Given the description of an element on the screen output the (x, y) to click on. 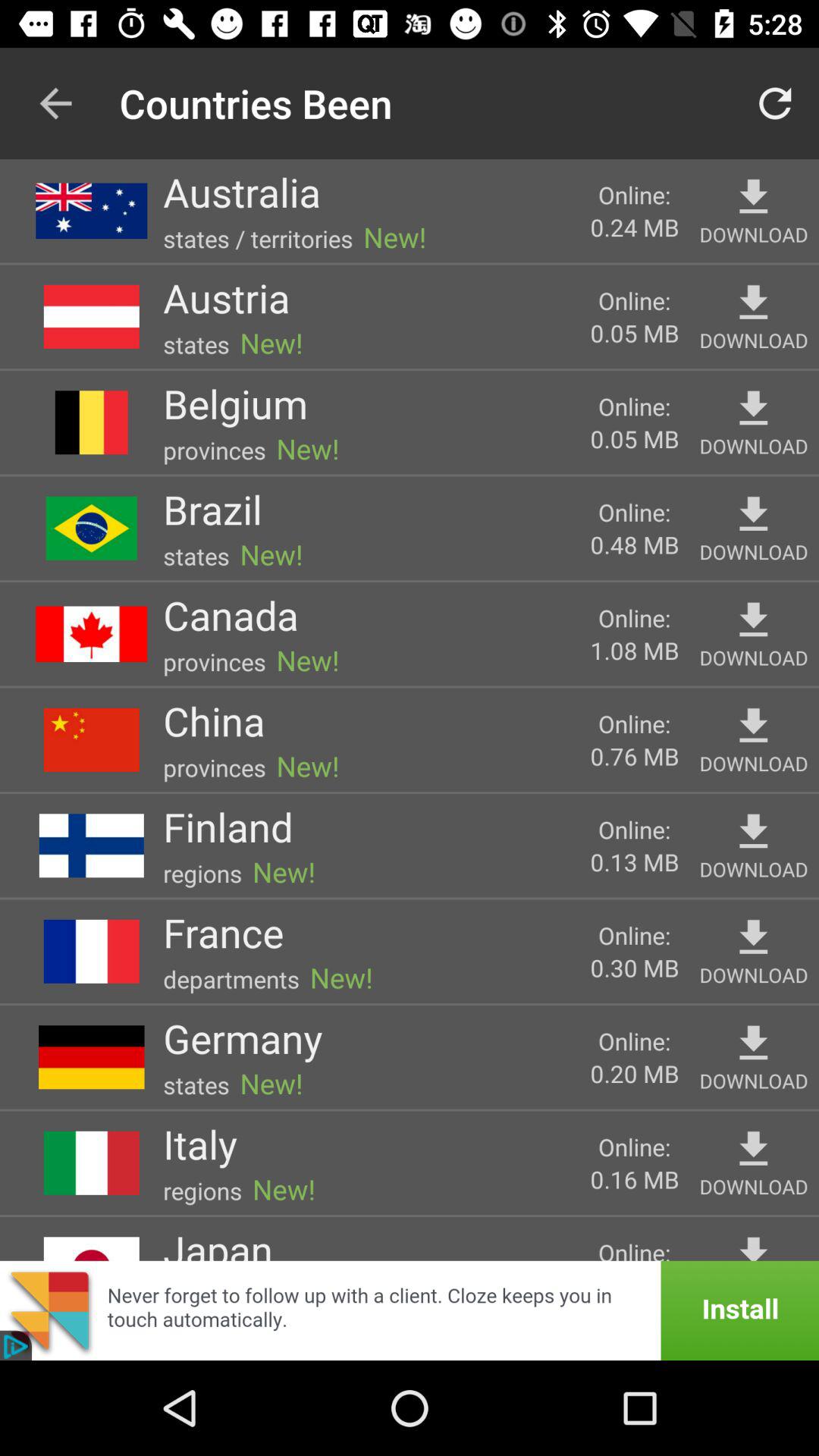
switch to download (753, 514)
